Given the description of an element on the screen output the (x, y) to click on. 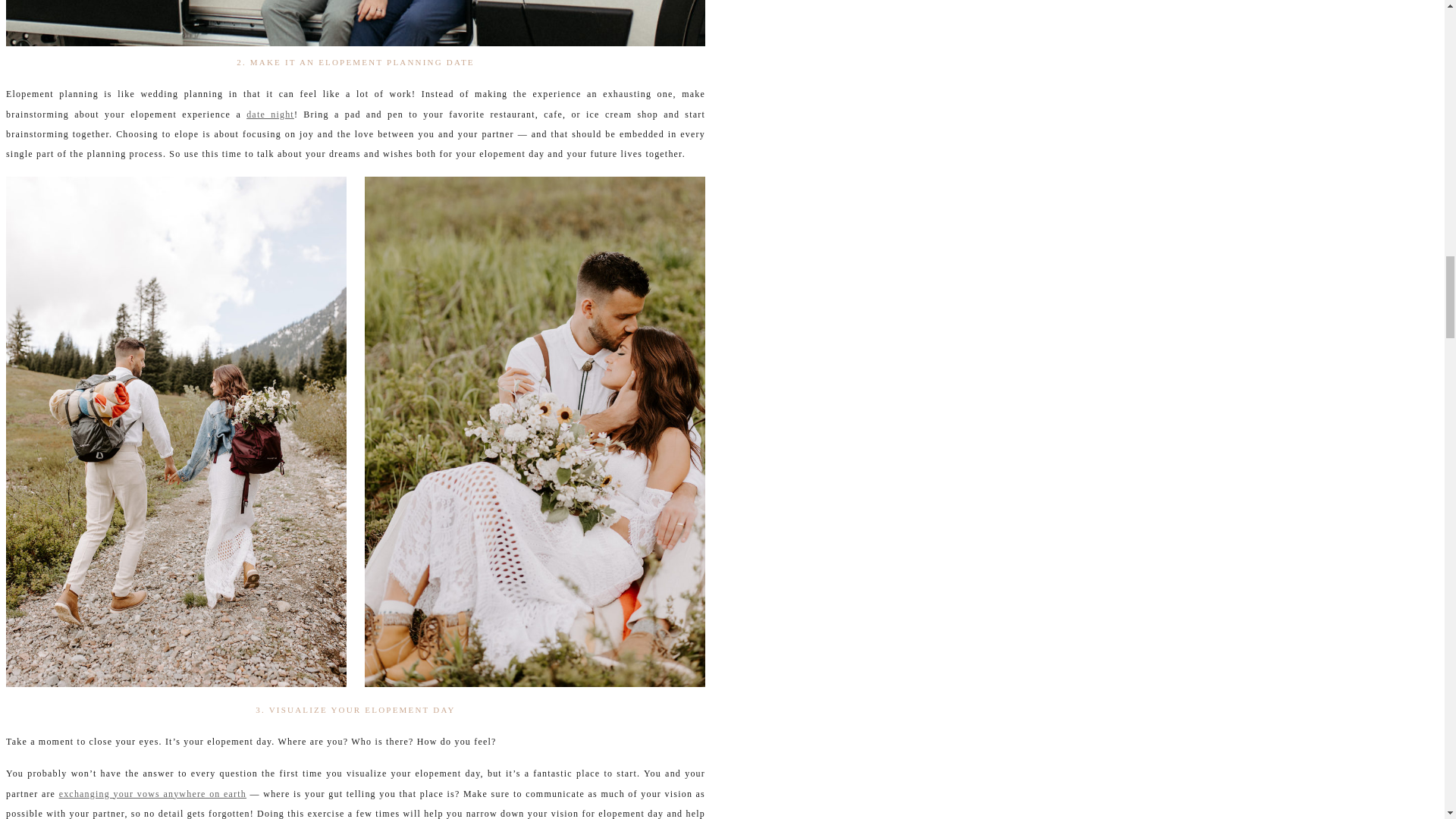
date night (270, 113)
exchanging your vows anywhere on earth (152, 793)
